Given the description of an element on the screen output the (x, y) to click on. 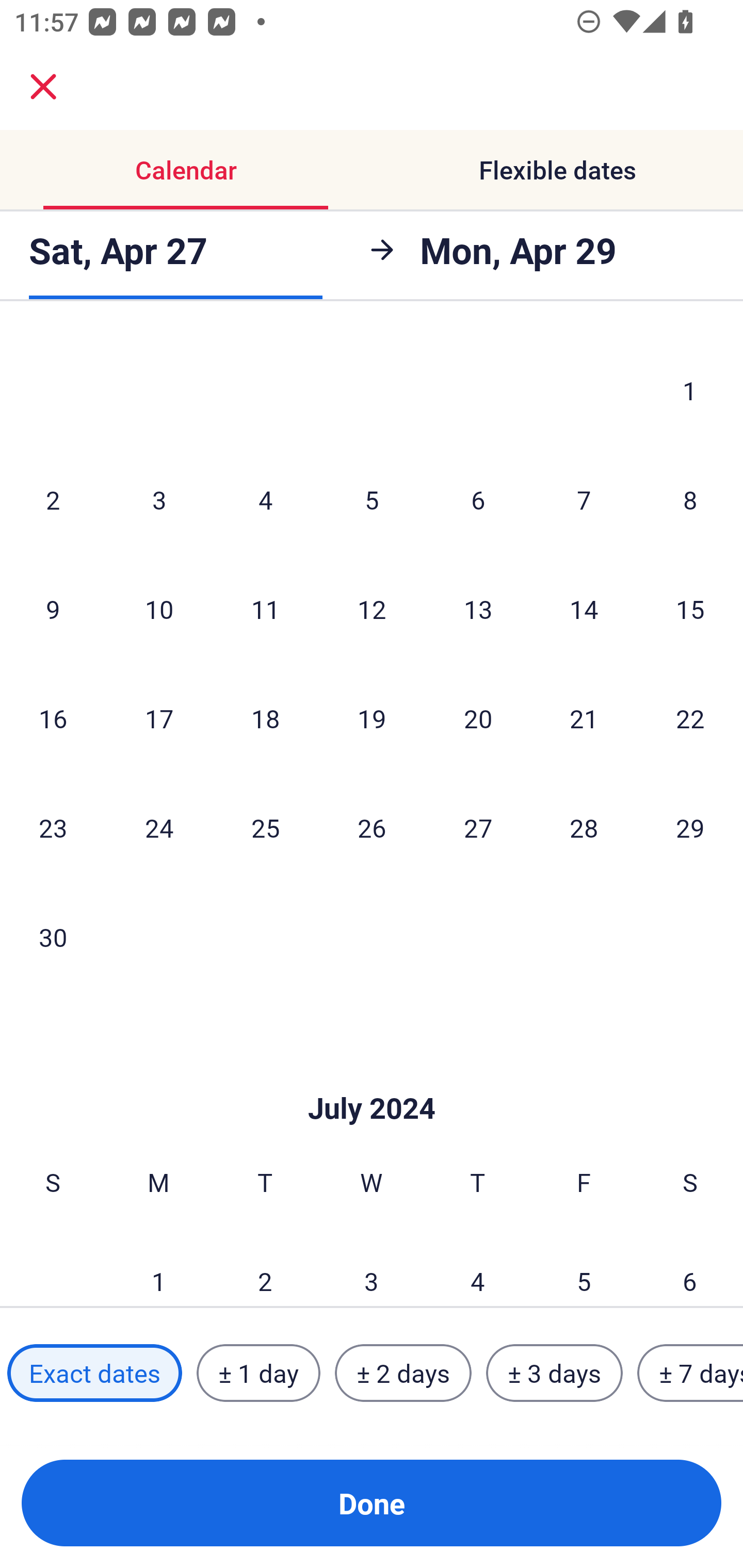
close. (43, 86)
Flexible dates (557, 170)
1 Saturday, June 1, 2024 (689, 390)
2 Sunday, June 2, 2024 (53, 498)
3 Monday, June 3, 2024 (159, 498)
4 Tuesday, June 4, 2024 (265, 498)
5 Wednesday, June 5, 2024 (371, 498)
6 Thursday, June 6, 2024 (477, 498)
7 Friday, June 7, 2024 (584, 498)
8 Saturday, June 8, 2024 (690, 498)
9 Sunday, June 9, 2024 (53, 608)
10 Monday, June 10, 2024 (159, 608)
11 Tuesday, June 11, 2024 (265, 608)
12 Wednesday, June 12, 2024 (371, 608)
13 Thursday, June 13, 2024 (477, 608)
14 Friday, June 14, 2024 (584, 608)
15 Saturday, June 15, 2024 (690, 608)
16 Sunday, June 16, 2024 (53, 717)
17 Monday, June 17, 2024 (159, 717)
18 Tuesday, June 18, 2024 (265, 717)
19 Wednesday, June 19, 2024 (371, 717)
20 Thursday, June 20, 2024 (477, 717)
21 Friday, June 21, 2024 (584, 717)
22 Saturday, June 22, 2024 (690, 717)
23 Sunday, June 23, 2024 (53, 827)
24 Monday, June 24, 2024 (159, 827)
25 Tuesday, June 25, 2024 (265, 827)
26 Wednesday, June 26, 2024 (371, 827)
27 Thursday, June 27, 2024 (477, 827)
28 Friday, June 28, 2024 (584, 827)
29 Saturday, June 29, 2024 (690, 827)
30 Sunday, June 30, 2024 (53, 936)
Skip to Done (371, 1077)
1 Monday, July 1, 2024 (158, 1266)
2 Tuesday, July 2, 2024 (264, 1266)
3 Wednesday, July 3, 2024 (371, 1266)
4 Thursday, July 4, 2024 (477, 1266)
5 Friday, July 5, 2024 (583, 1266)
6 Saturday, July 6, 2024 (689, 1266)
Exact dates (94, 1372)
± 1 day (258, 1372)
± 2 days (403, 1372)
± 3 days (553, 1372)
± 7 days (690, 1372)
Done (371, 1502)
